Given the description of an element on the screen output the (x, y) to click on. 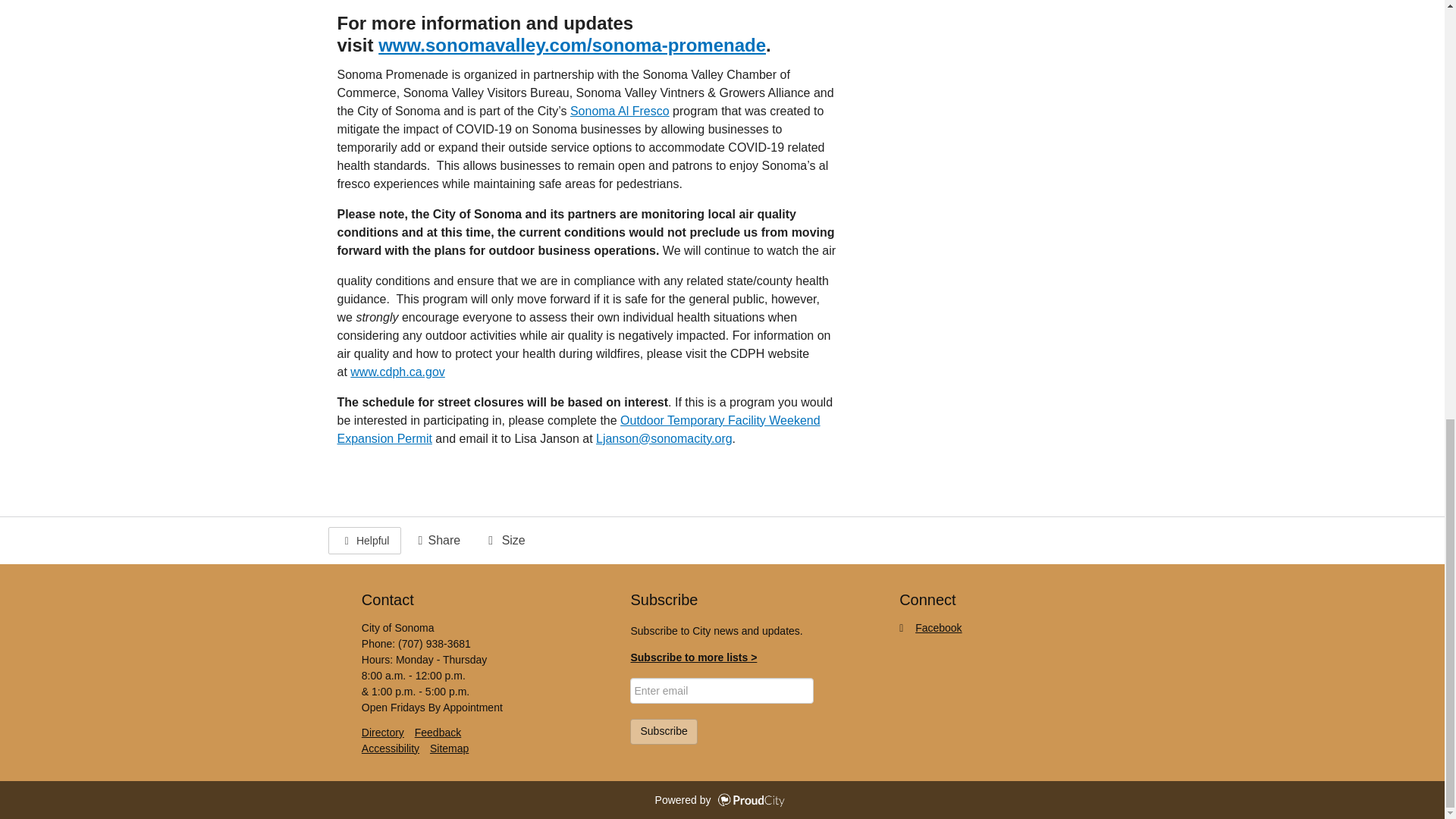
This page makes me proud (364, 540)
Helpful (364, 540)
Subscribe (663, 731)
Outdoor Temporary Facility Weekend Expansion Permit (577, 429)
Sonoma Al Fresco (619, 110)
www.cdph.ca.gov (397, 371)
Share (436, 540)
